Given the description of an element on the screen output the (x, y) to click on. 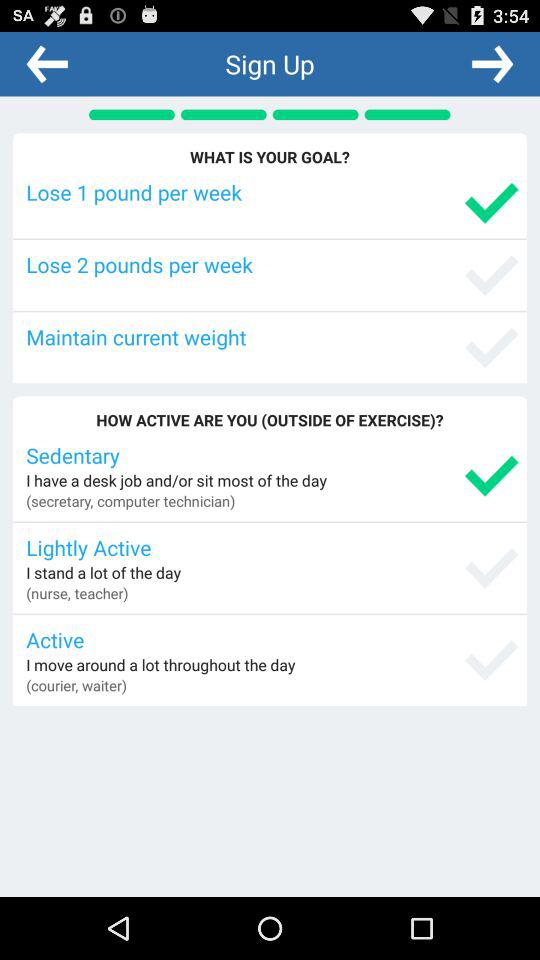
previous section (47, 63)
